Given the description of an element on the screen output the (x, y) to click on. 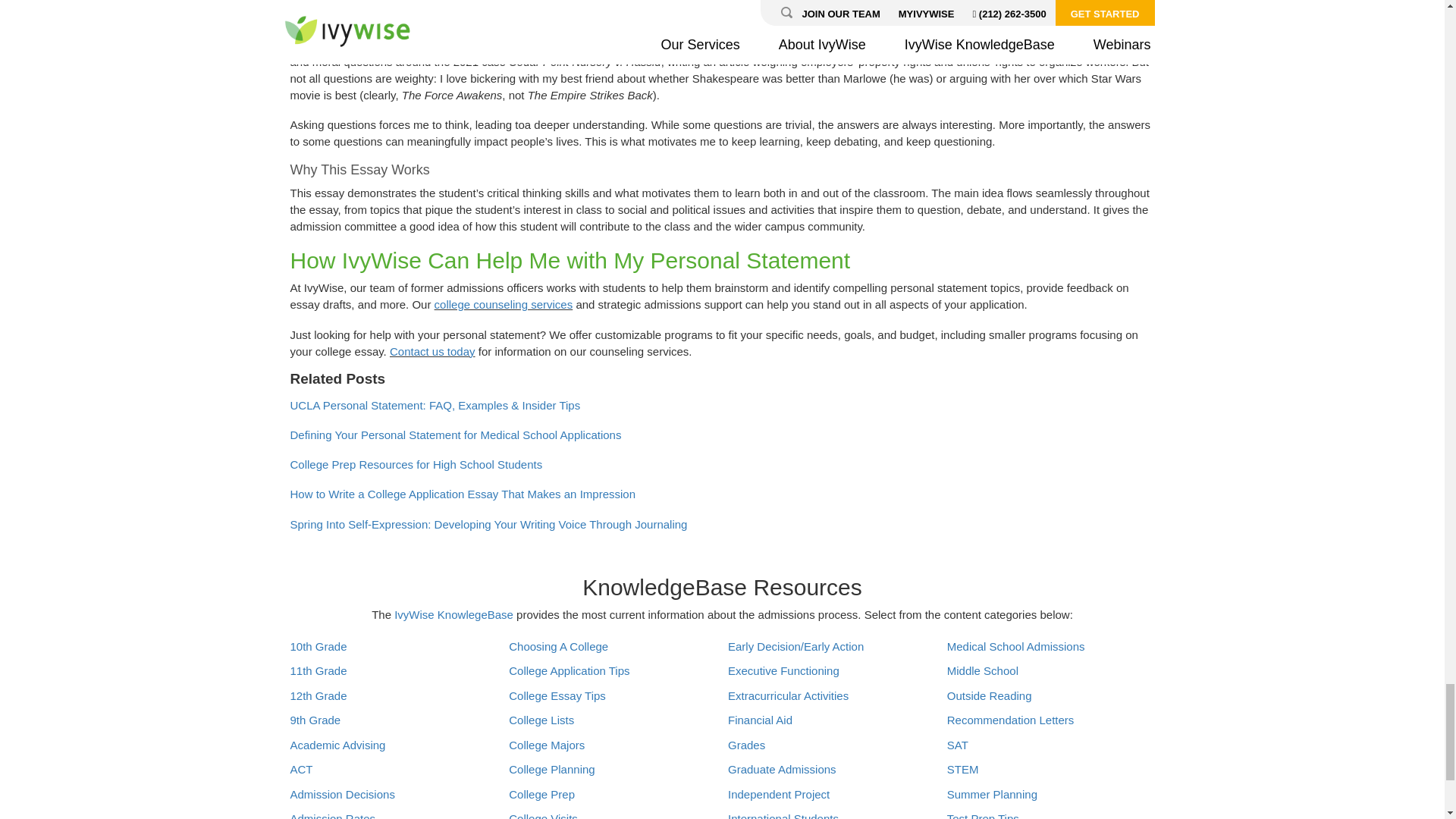
College Essay Tips (556, 695)
10th Grade (317, 646)
9th Grade (314, 719)
ACT (301, 769)
Choosing a College (558, 646)
College Application Tips (568, 670)
11th Grade (317, 670)
Admission Rates (332, 814)
12th Grade (317, 695)
Academic Advising (337, 745)
Admission Decisions (341, 794)
